Given the description of an element on the screen output the (x, y) to click on. 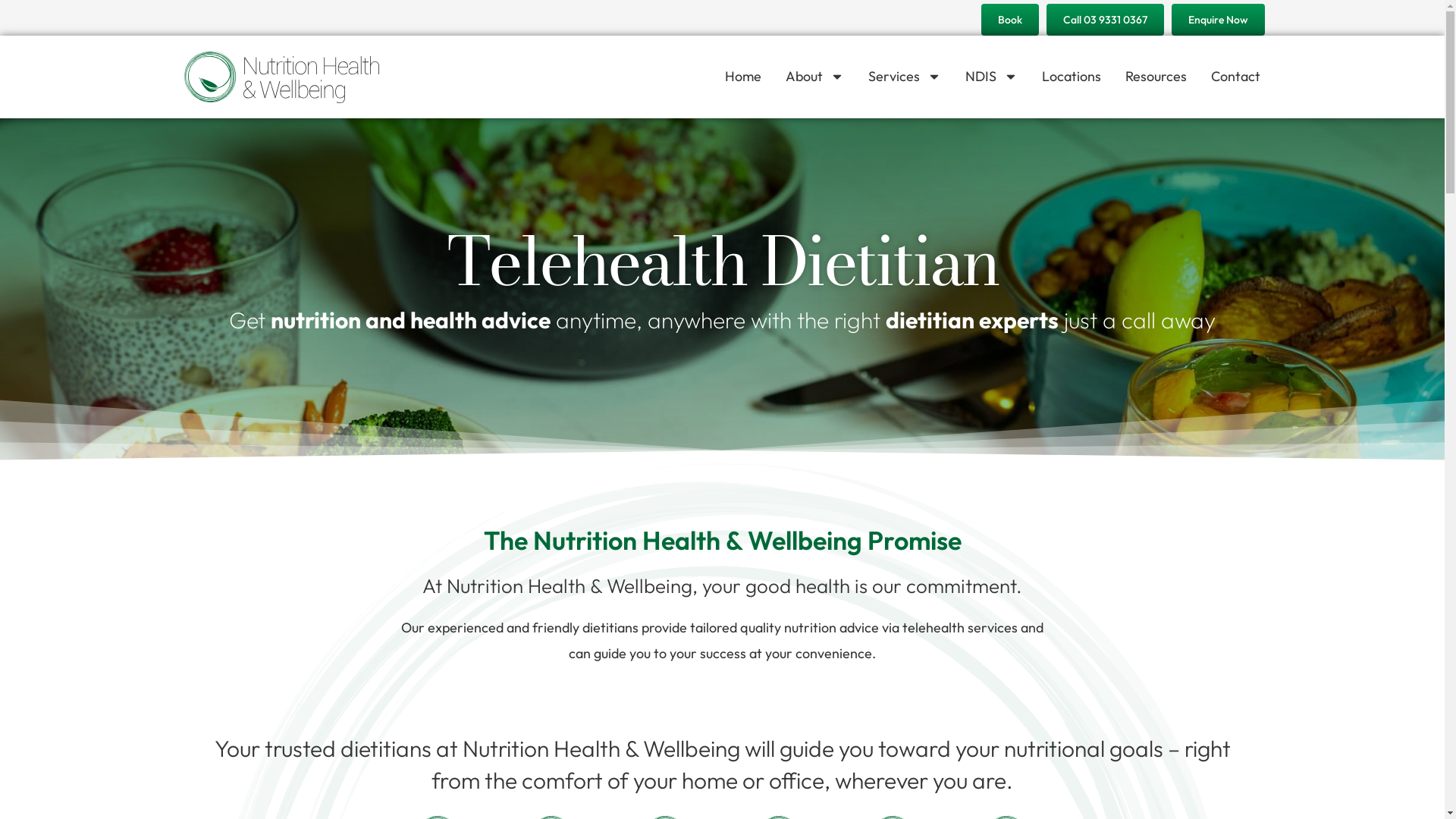
Book Element type: text (1009, 19)
Call 03 9331 0367 Element type: text (1105, 19)
Enquire Now Element type: text (1217, 19)
Contact Element type: text (1235, 76)
Locations Element type: text (1071, 76)
About Element type: text (814, 76)
NDIS Element type: text (991, 76)
Services Element type: text (904, 76)
Home Element type: text (742, 76)
Resources Element type: text (1155, 76)
